Given the description of an element on the screen output the (x, y) to click on. 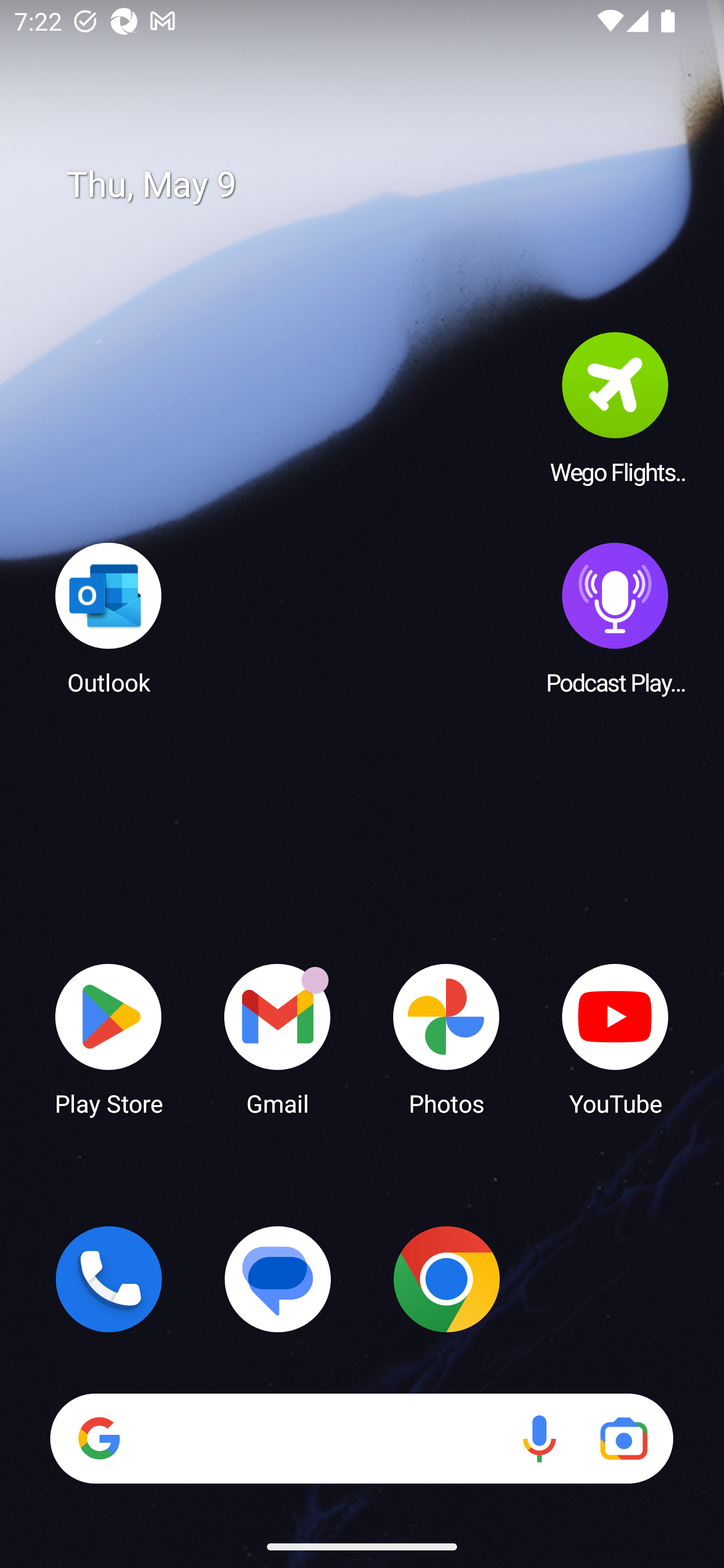
Thu, May 9 (375, 184)
Wego Flights & Hotels (615, 407)
Outlook (108, 617)
Podcast Player (615, 617)
Play Store (108, 1038)
Gmail Gmail has 18 notifications (277, 1038)
Photos (445, 1038)
YouTube (615, 1038)
Phone (108, 1279)
Messages (277, 1279)
Chrome (446, 1279)
Search Voice search Google Lens (361, 1438)
Voice search (539, 1438)
Google Lens (623, 1438)
